Given the description of an element on the screen output the (x, y) to click on. 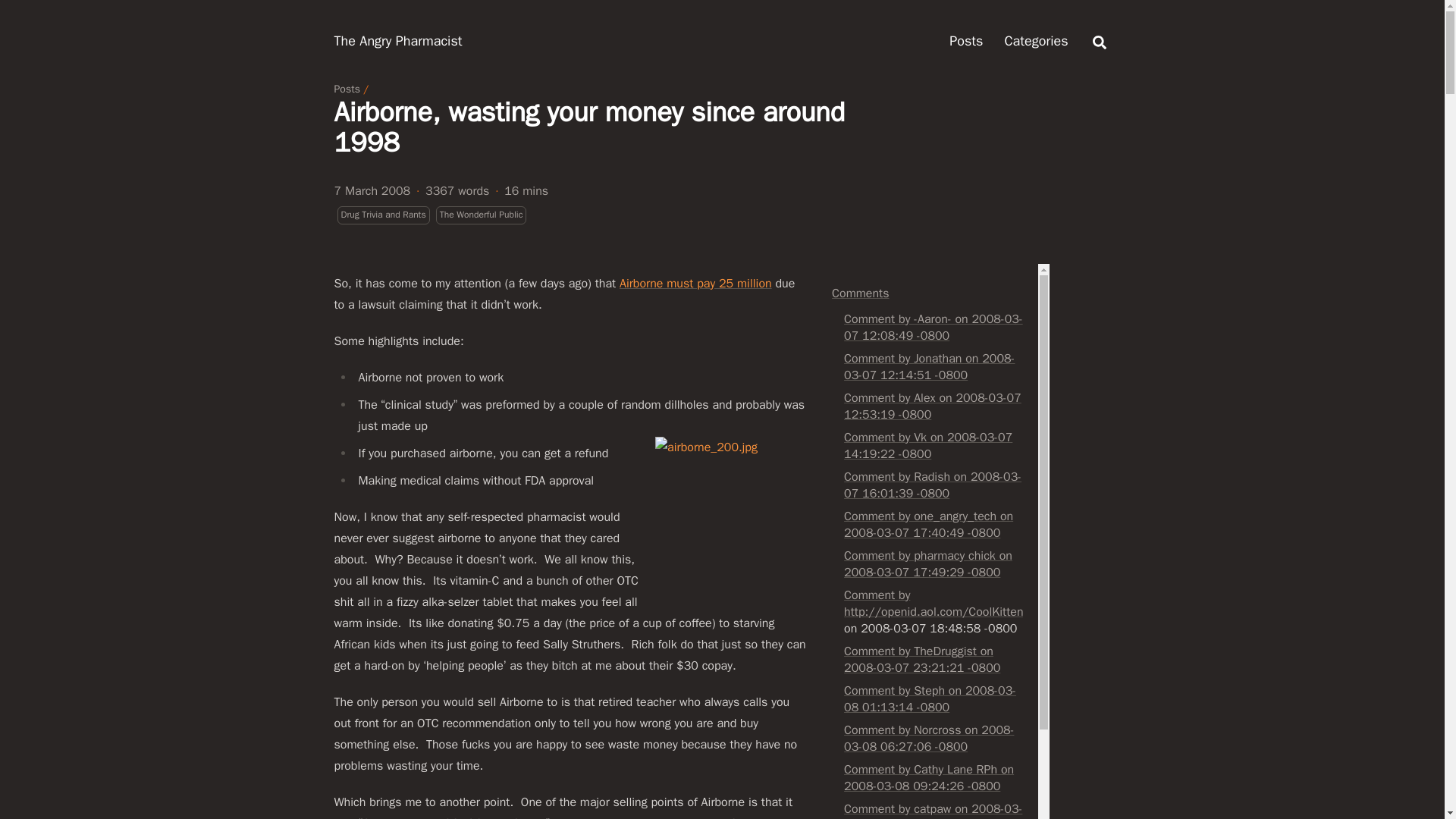
Comments (859, 292)
The Angry Pharmacist (397, 40)
The Wonderful Public (481, 215)
Comment by (877, 594)
Reading time (525, 190)
Posts (346, 88)
Drug Trivia and Rants (382, 215)
